Given the description of an element on the screen output the (x, y) to click on. 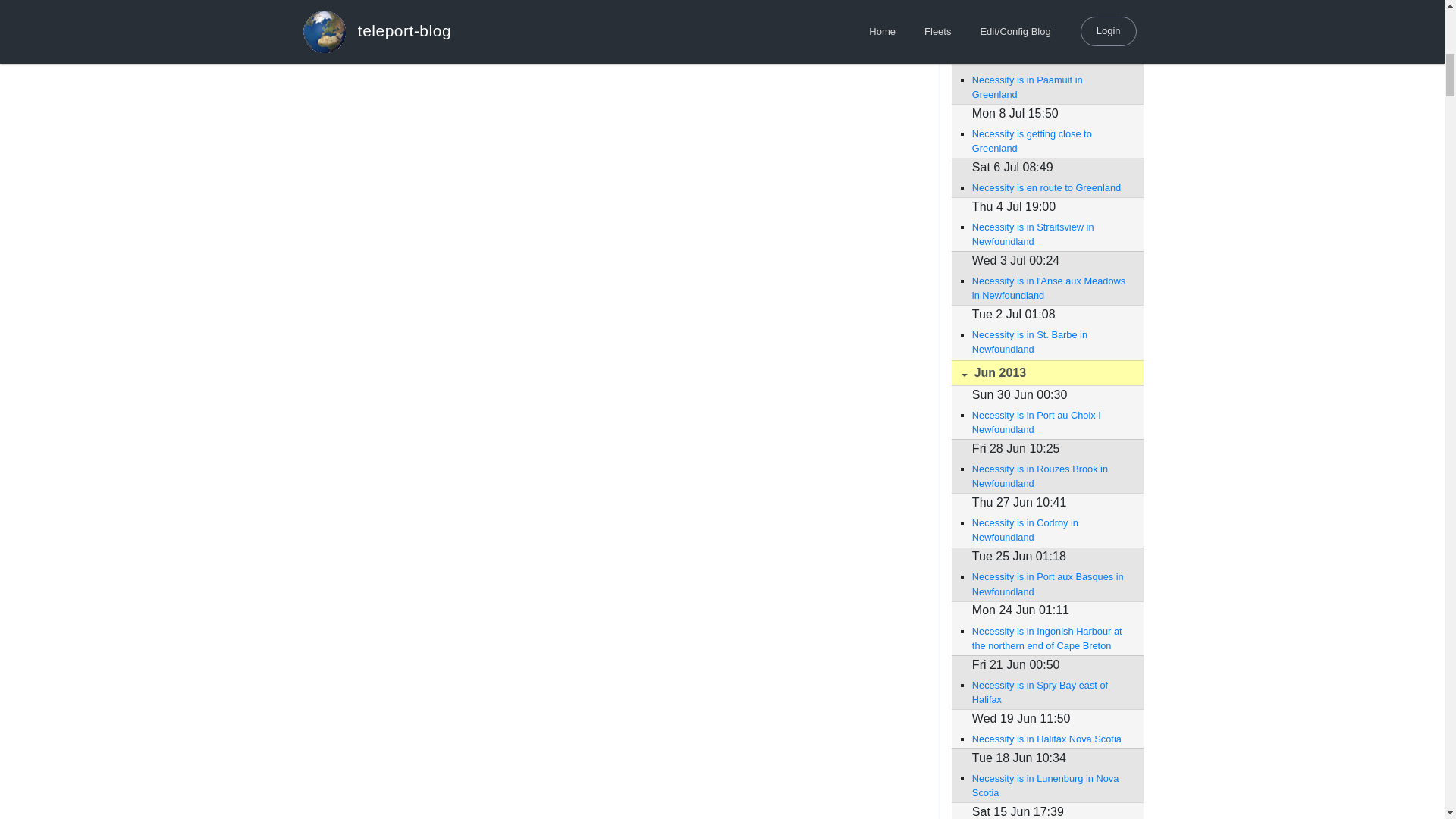
Necessity is en route to Greenland (1050, 187)
Necessity is in Straitsview in Newfoundland (1050, 234)
Necessity is in St. Barbe in Newfoundland (1050, 341)
Jun 2013 (1046, 373)
Necessity is in Paamuit in Greenland (1050, 86)
Necessity is in l'Anse aux Meadows in Newfoundland (1050, 287)
Necessity is getting close to Greenland (1050, 140)
Necessity is in Paamuit in Greenland (1050, 32)
